Given the description of an element on the screen output the (x, y) to click on. 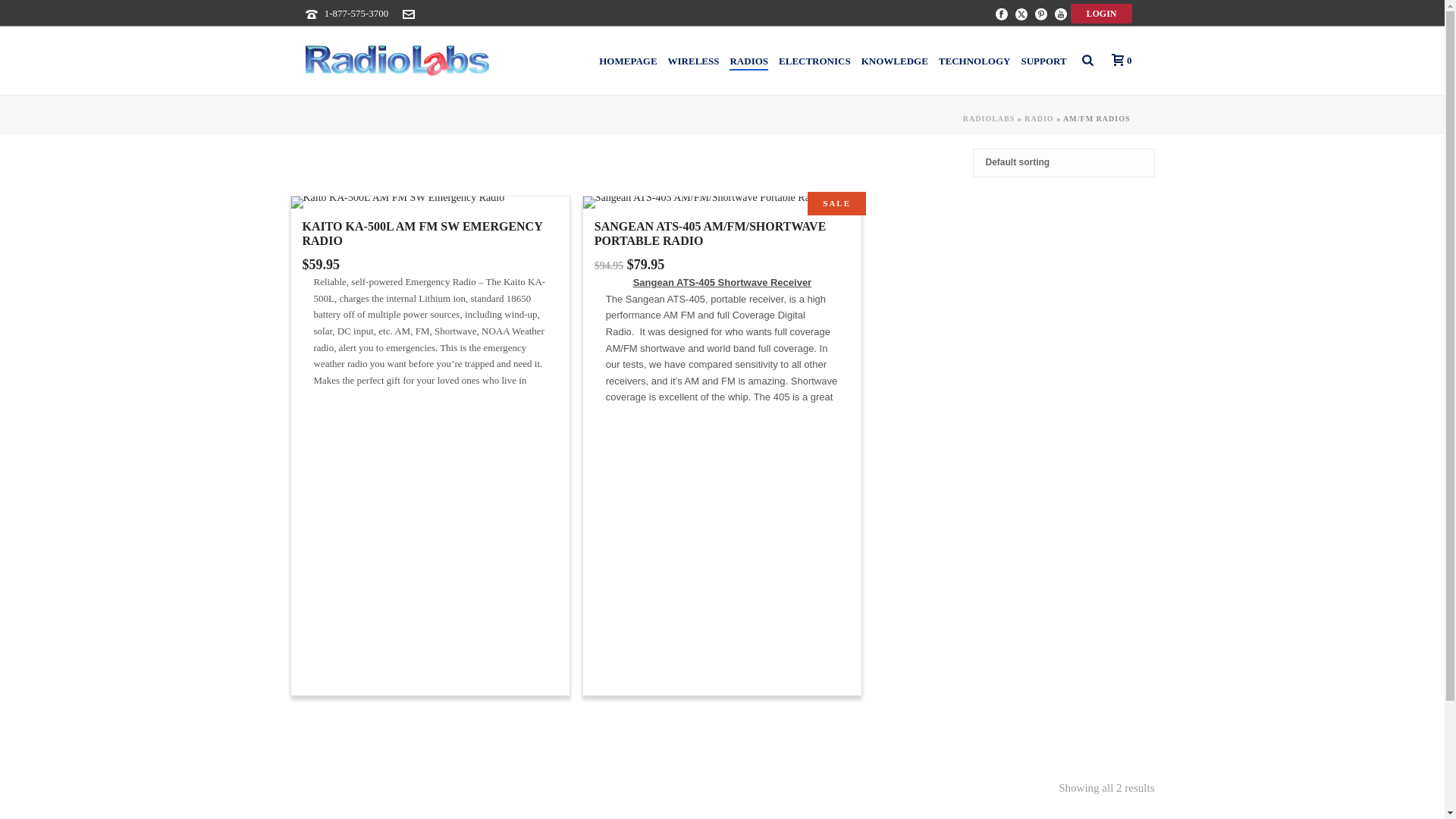
SUPPORT (1042, 61)
RADIOS (748, 61)
Kaito KA-500L AM FM SW Emergency Radio (398, 202)
HOMEPAGE (628, 61)
TECHNOLOGY (974, 61)
1-877-575-3700 (356, 12)
WIRELESS (693, 61)
WIRELESS (693, 61)
Your Radio and Wireless Experts (396, 60)
HOMEPAGE (628, 61)
